Given the description of an element on the screen output the (x, y) to click on. 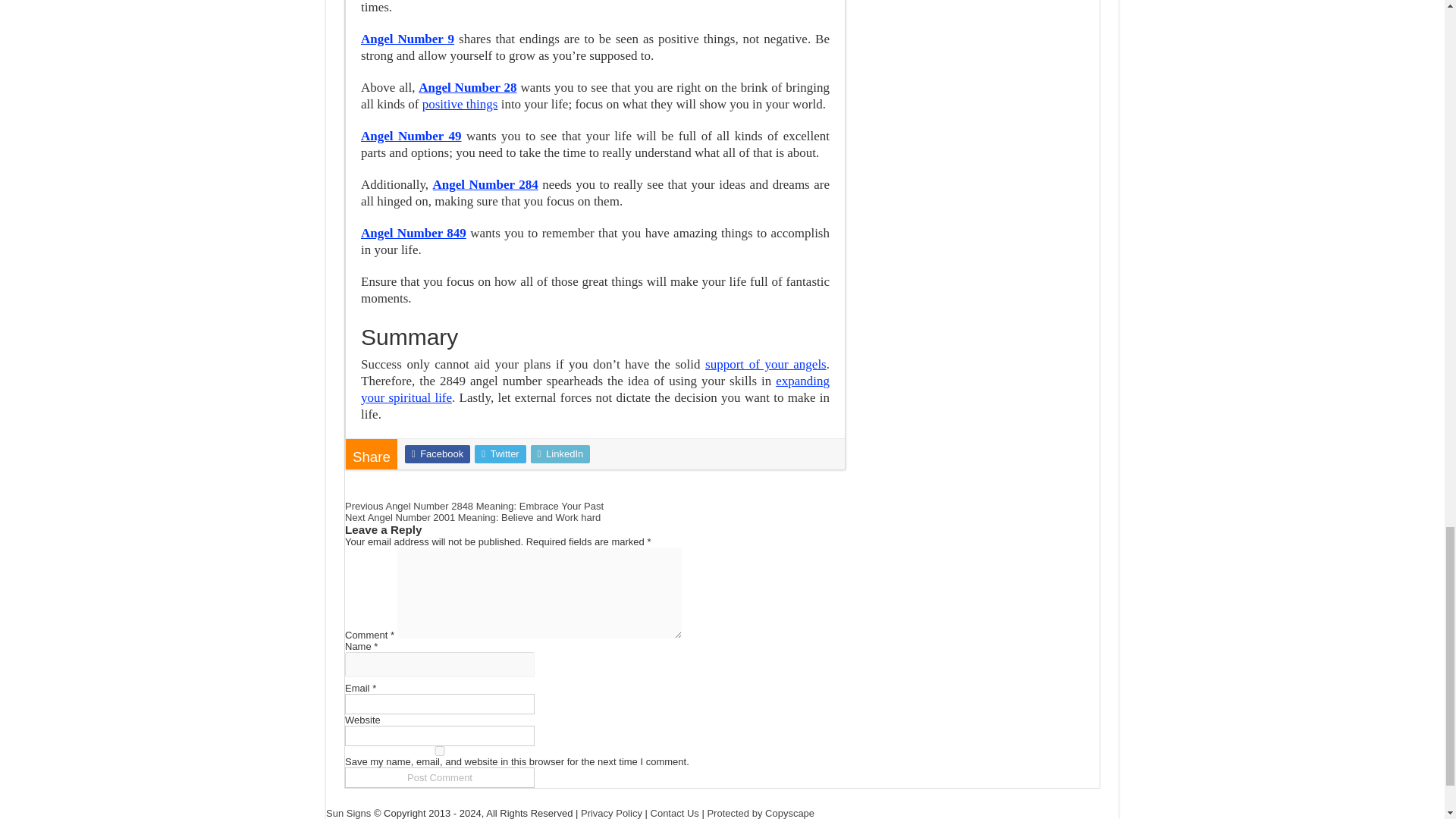
expanding your spiritual life (595, 388)
yes (439, 750)
Post Comment (439, 777)
Facebook (437, 454)
positive things (459, 104)
support of your angels (765, 364)
Angel Number 284 (485, 184)
Angel Number 49 (411, 135)
Angel Number 849 (413, 233)
Angel Number 9 (407, 38)
